Given the description of an element on the screen output the (x, y) to click on. 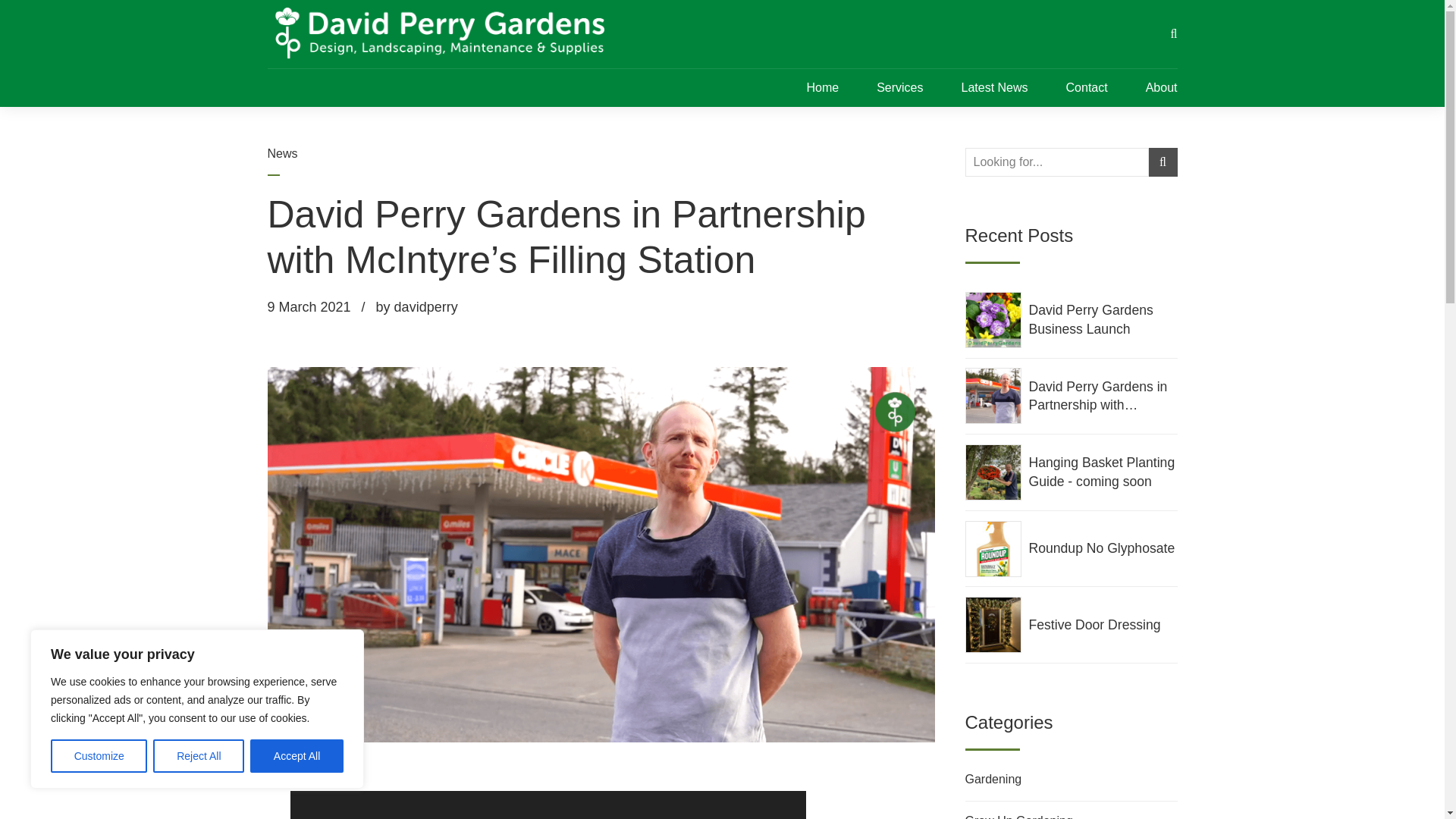
Latest News (993, 87)
Services (899, 87)
Hanging Basket Planting Guide - coming soon (1101, 471)
Customize (98, 756)
David Perry Gardens Business Launch (1101, 319)
Festive Door Dressing (1101, 624)
News (281, 153)
Reject All (198, 756)
Roundup No Glyphosate (1101, 547)
Accept All (296, 756)
Contact (1086, 87)
by davidperry (416, 306)
